Given the description of an element on the screen output the (x, y) to click on. 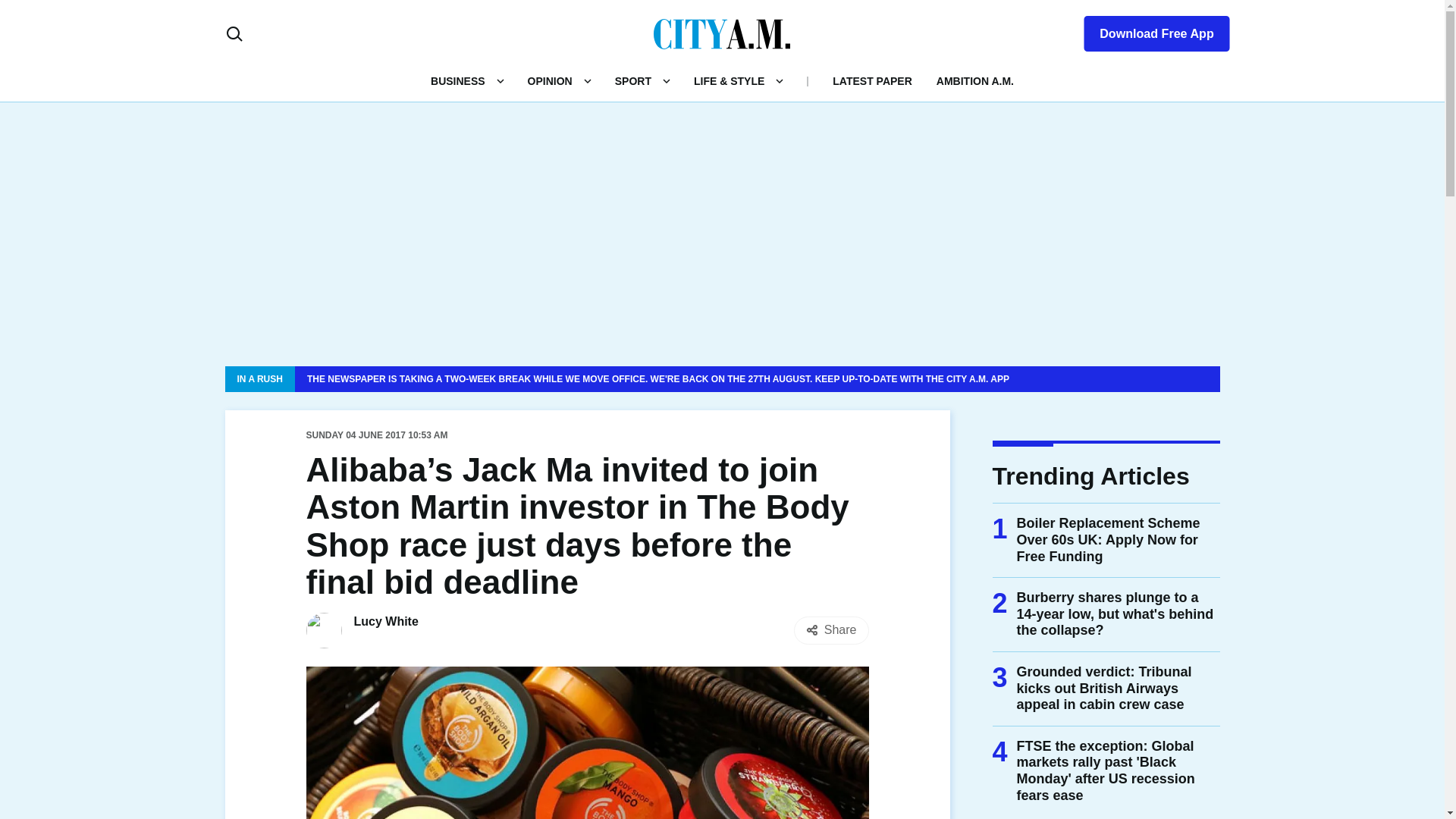
CityAM (721, 33)
BUSINESS (457, 80)
OPINION (549, 80)
SPORT (632, 80)
Download Free App (1146, 30)
